Given the description of an element on the screen output the (x, y) to click on. 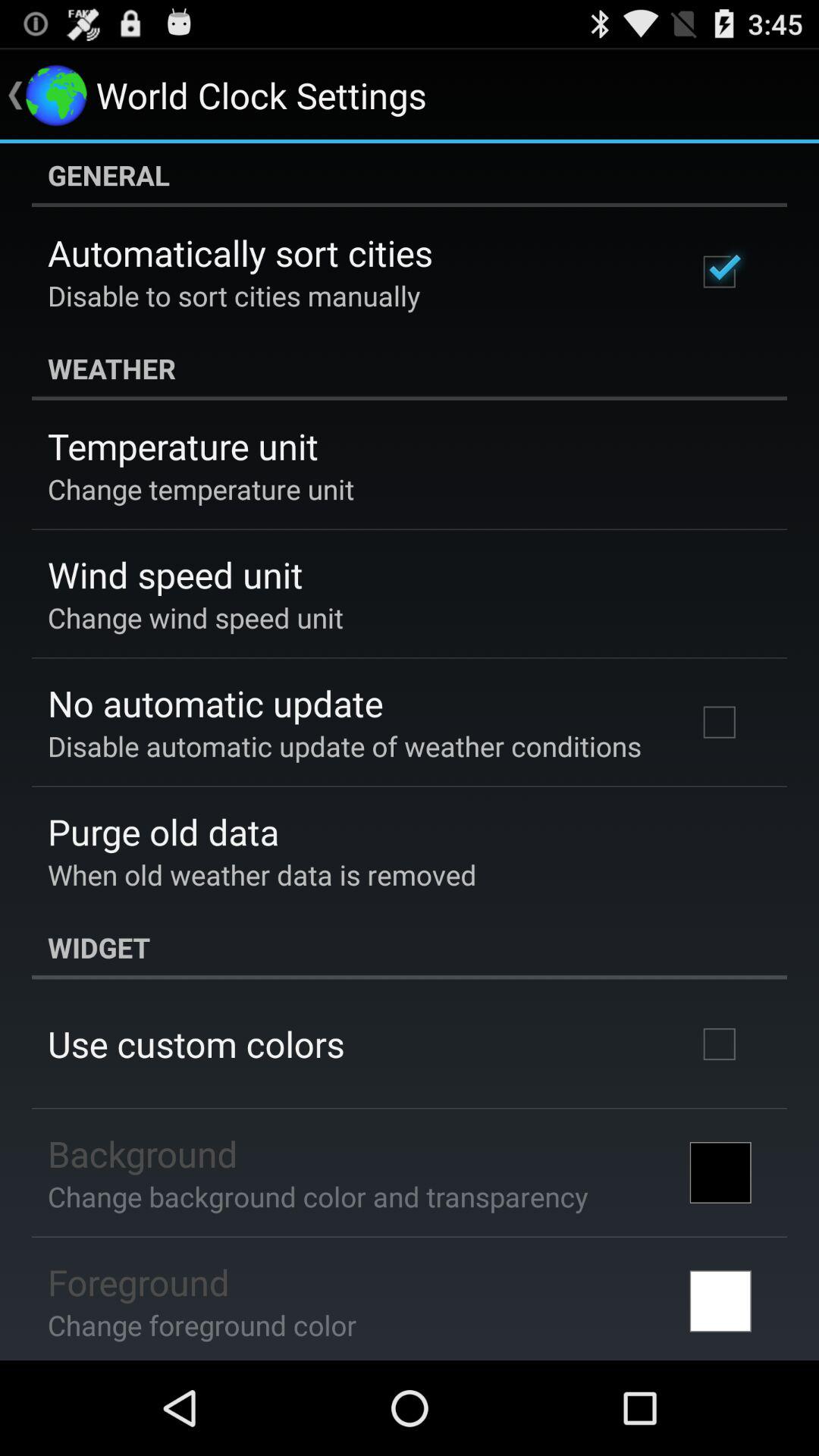
press item below the widget app (195, 1043)
